Given the description of an element on the screen output the (x, y) to click on. 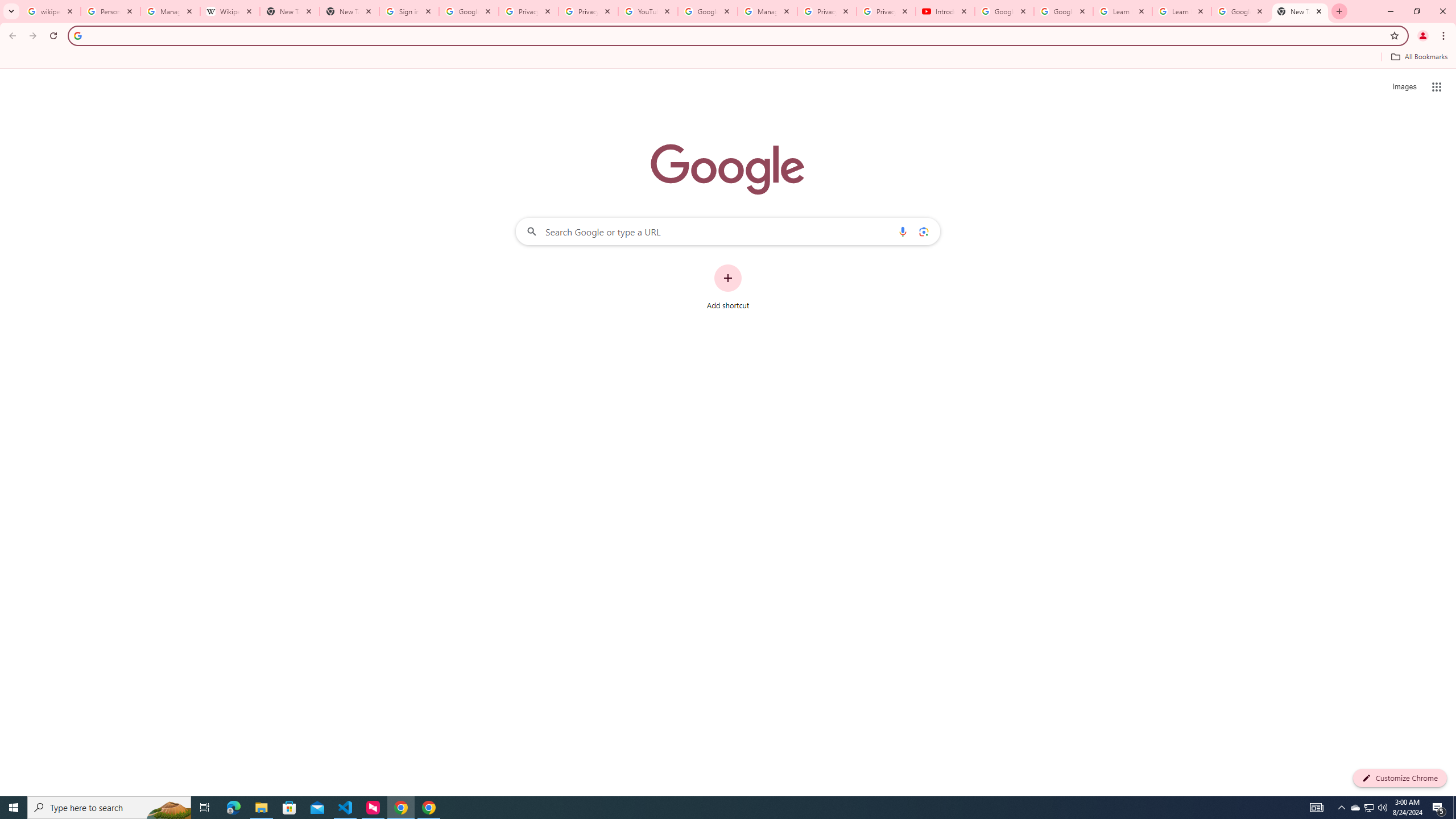
Search for Images  (1403, 87)
